Given the description of an element on the screen output the (x, y) to click on. 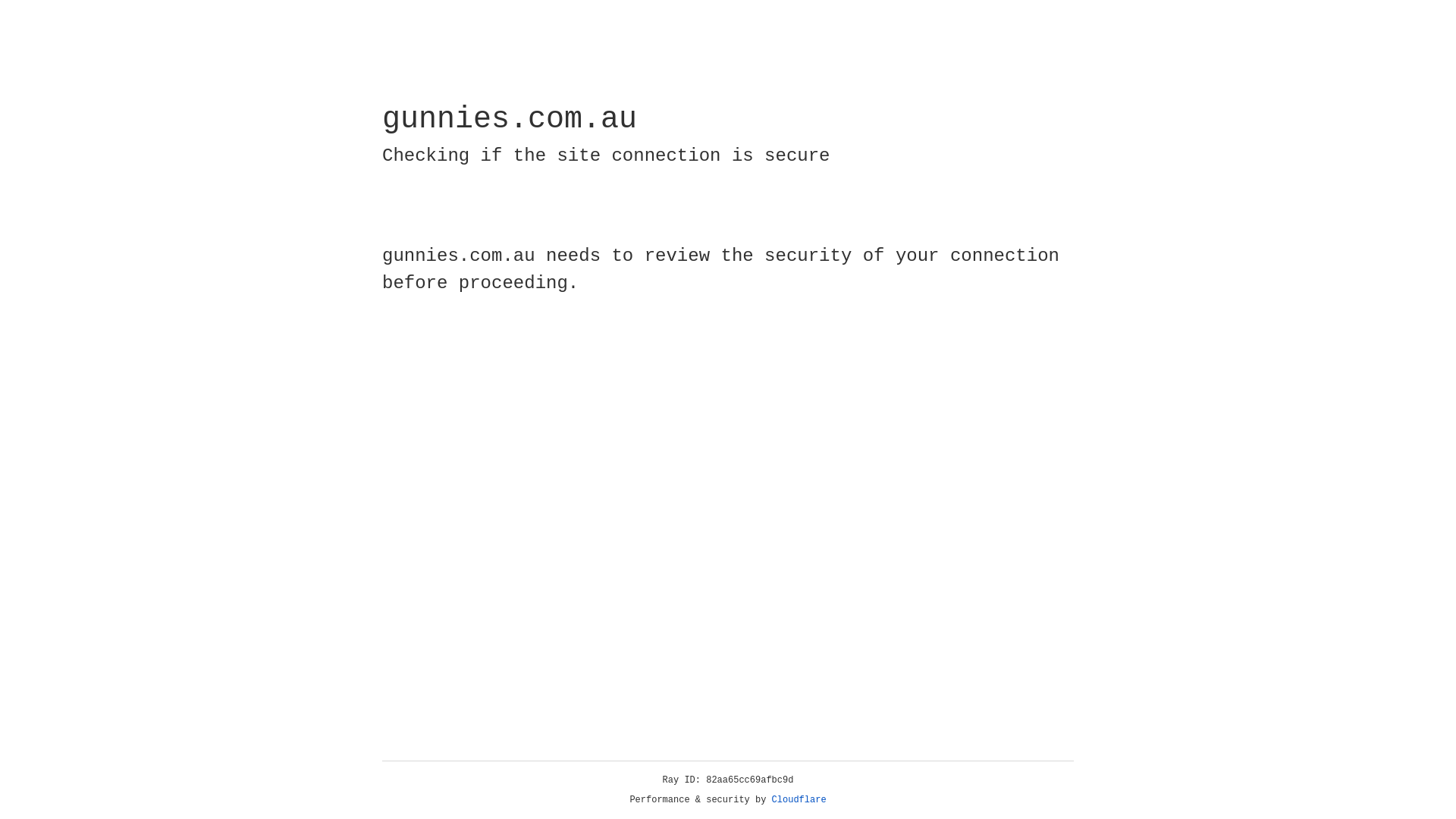
Cloudflare Element type: text (798, 799)
